Given the description of an element on the screen output the (x, y) to click on. 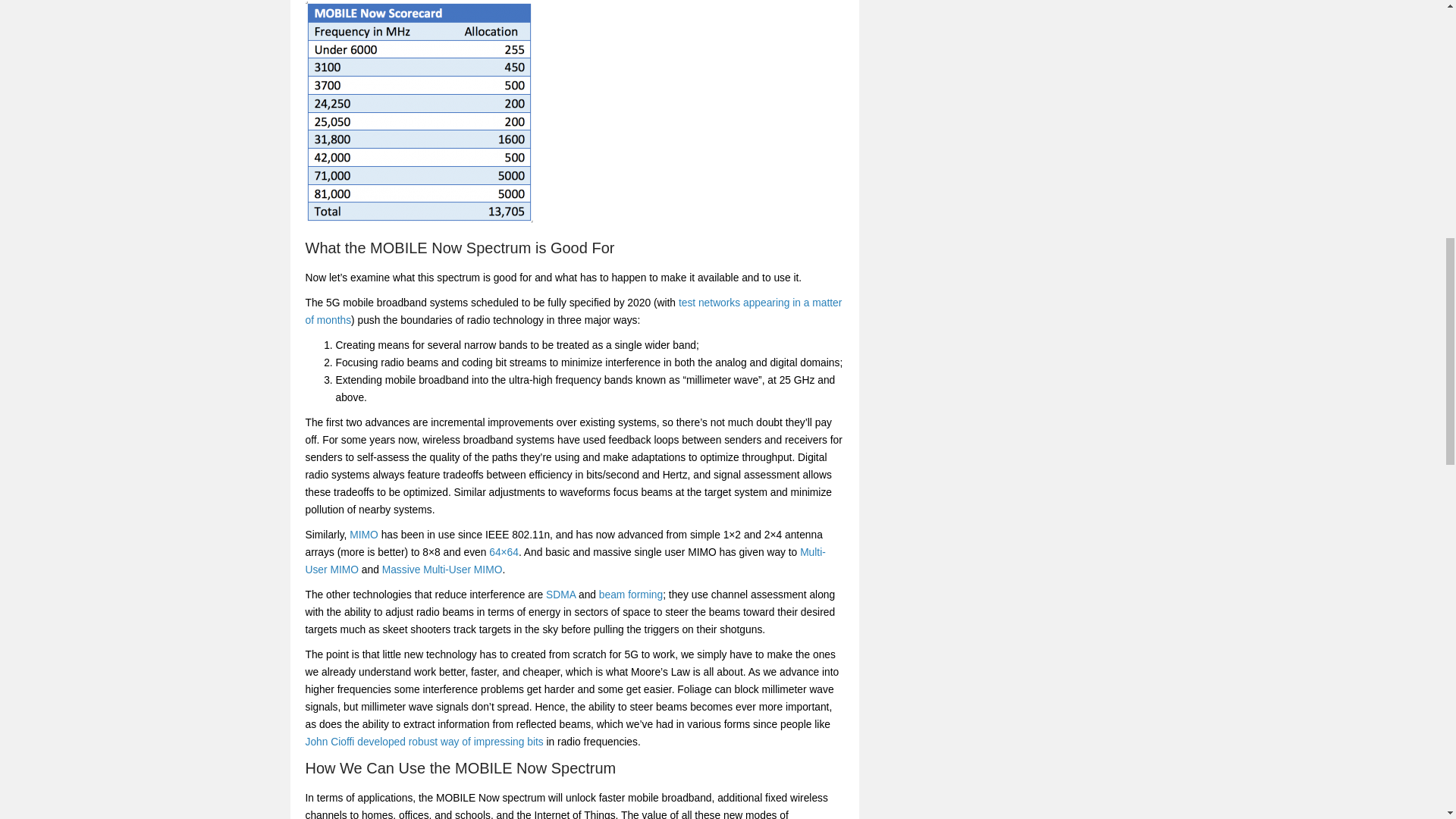
John Cioffi developed robust way of impressing bits (423, 741)
beam forming (630, 594)
test networks appearing in a matter of months (572, 311)
Massive Multi-User MIMO (441, 569)
Multi-User MIMO (564, 561)
MIMO (363, 534)
SDMA (560, 594)
